Given the description of an element on the screen output the (x, y) to click on. 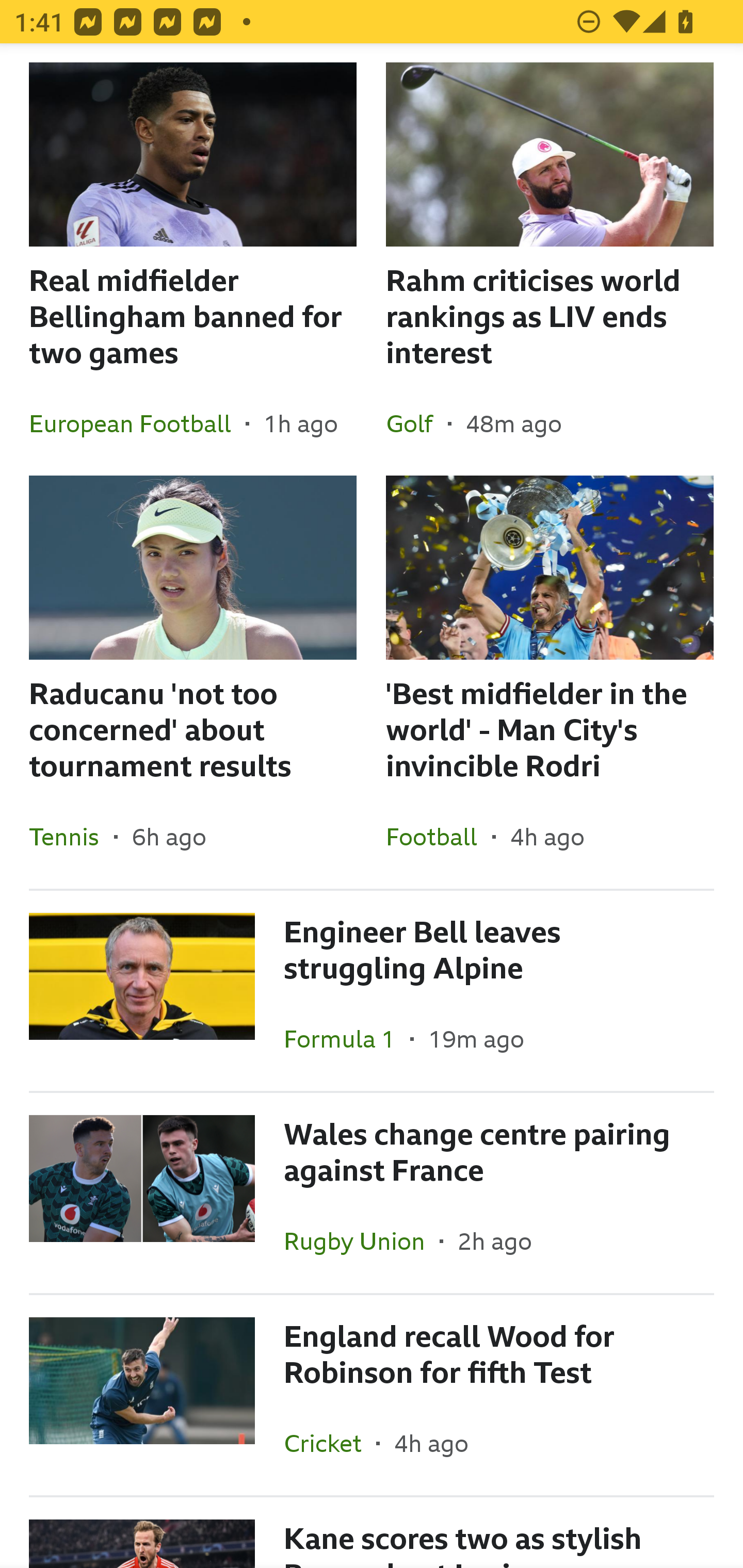
European Football In the section European Football (136, 423)
Golf In the section Golf (416, 423)
Tennis In the section Tennis (70, 836)
Football In the section Football (438, 836)
Formula 1 In the section Formula 1 (346, 1038)
Rugby Union In the section Rugby Union (361, 1240)
Cricket In the section Cricket (329, 1442)
